Given the description of an element on the screen output the (x, y) to click on. 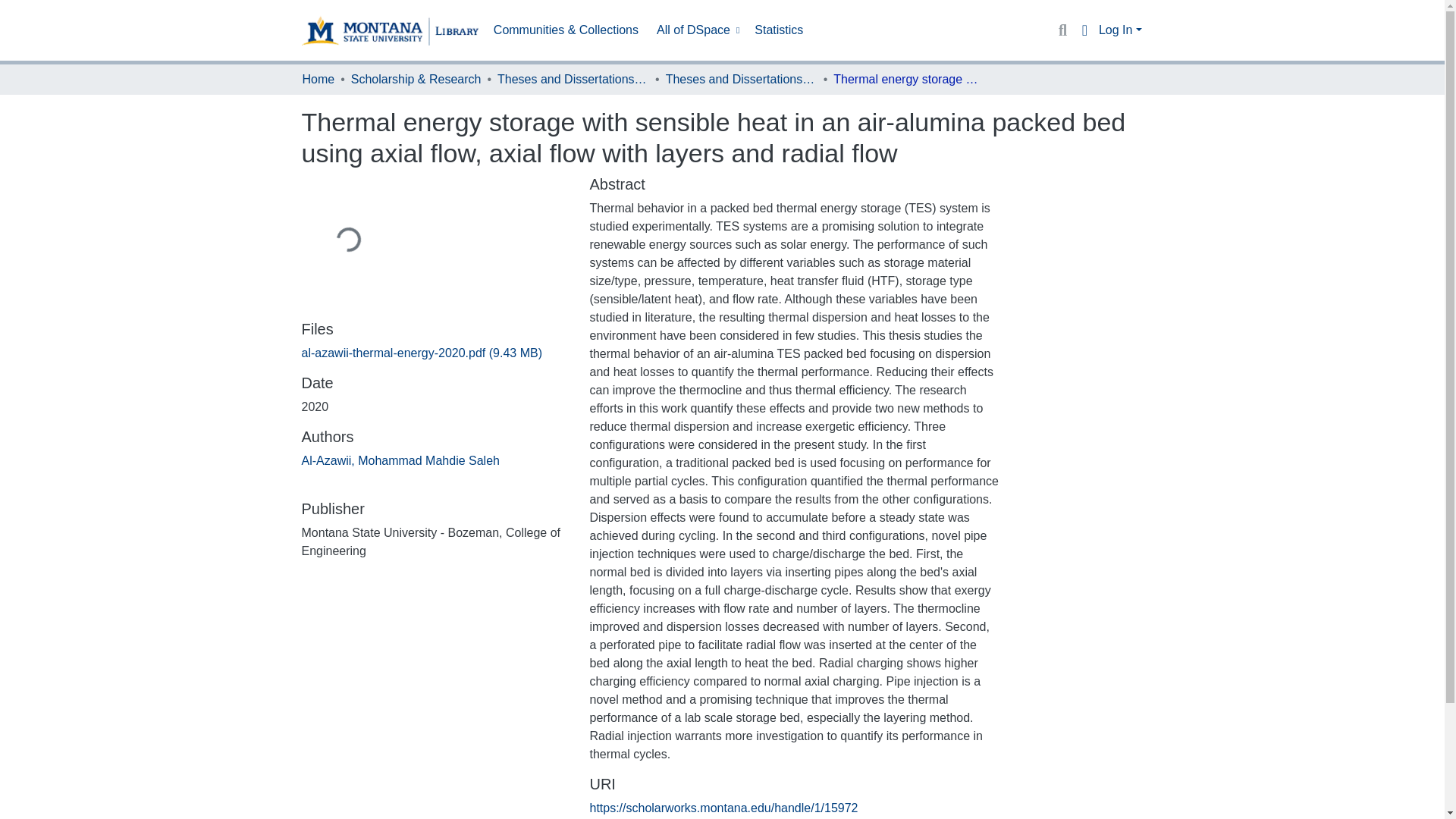
All of DSpace (696, 30)
Search (1061, 30)
Statistics (778, 30)
Home (317, 79)
Language switch (1084, 30)
Log In (1119, 29)
Al-Azawii, Mohammad Mahdie Saleh (400, 460)
